Given the description of an element on the screen output the (x, y) to click on. 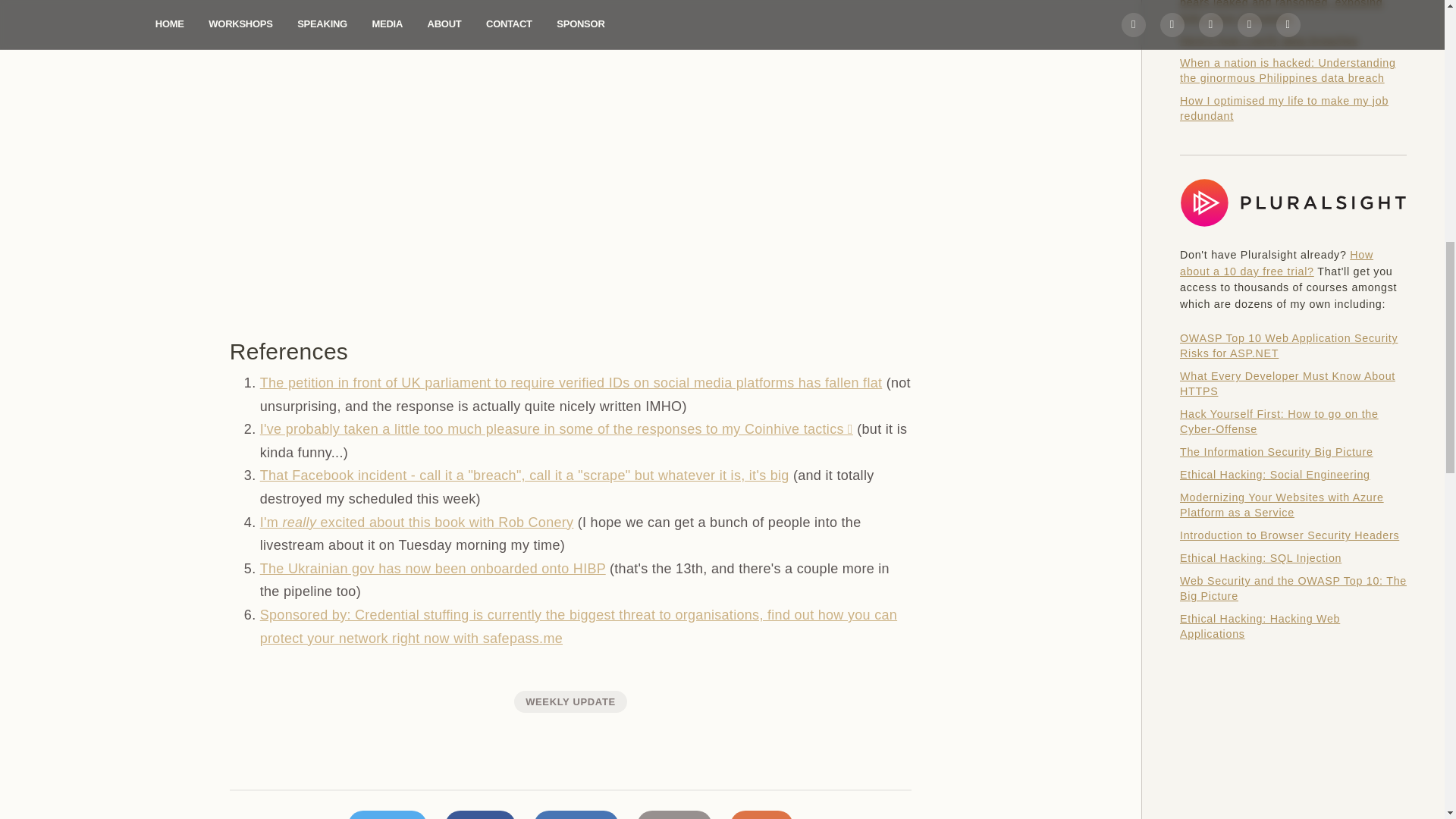
WEEKLY UPDATE (570, 701)
I'm really excited about this book with Rob Conery (416, 522)
The Ukrainian gov has now been onboarded onto HIBP (432, 568)
UPDATE (576, 814)
POST (480, 814)
EMAIL (674, 814)
